Given the description of an element on the screen output the (x, y) to click on. 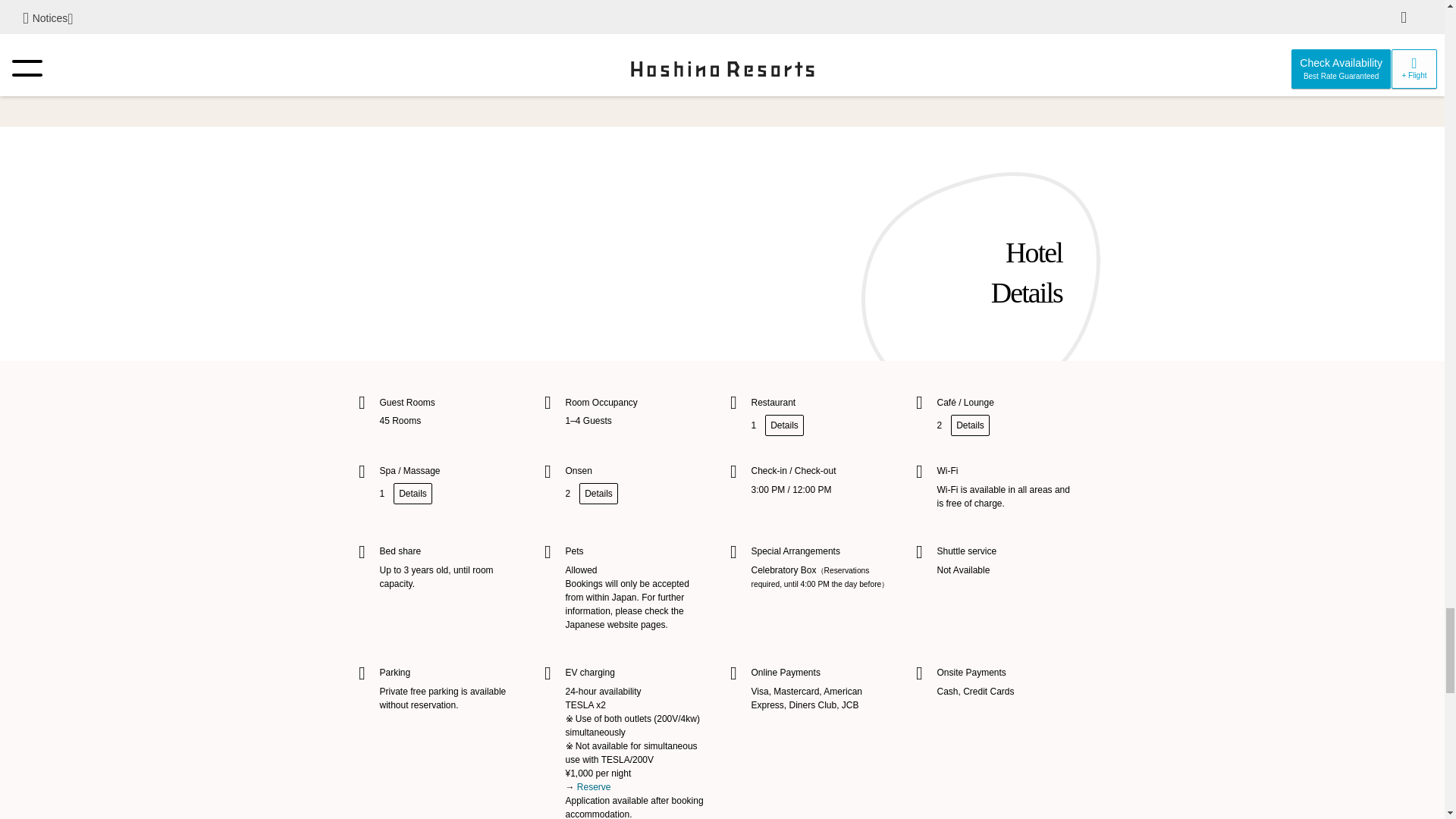
1Details (404, 492)
1Details (777, 424)
Reserve (593, 787)
Details (721, 63)
2Details (963, 424)
2Details (591, 492)
